Given the description of an element on the screen output the (x, y) to click on. 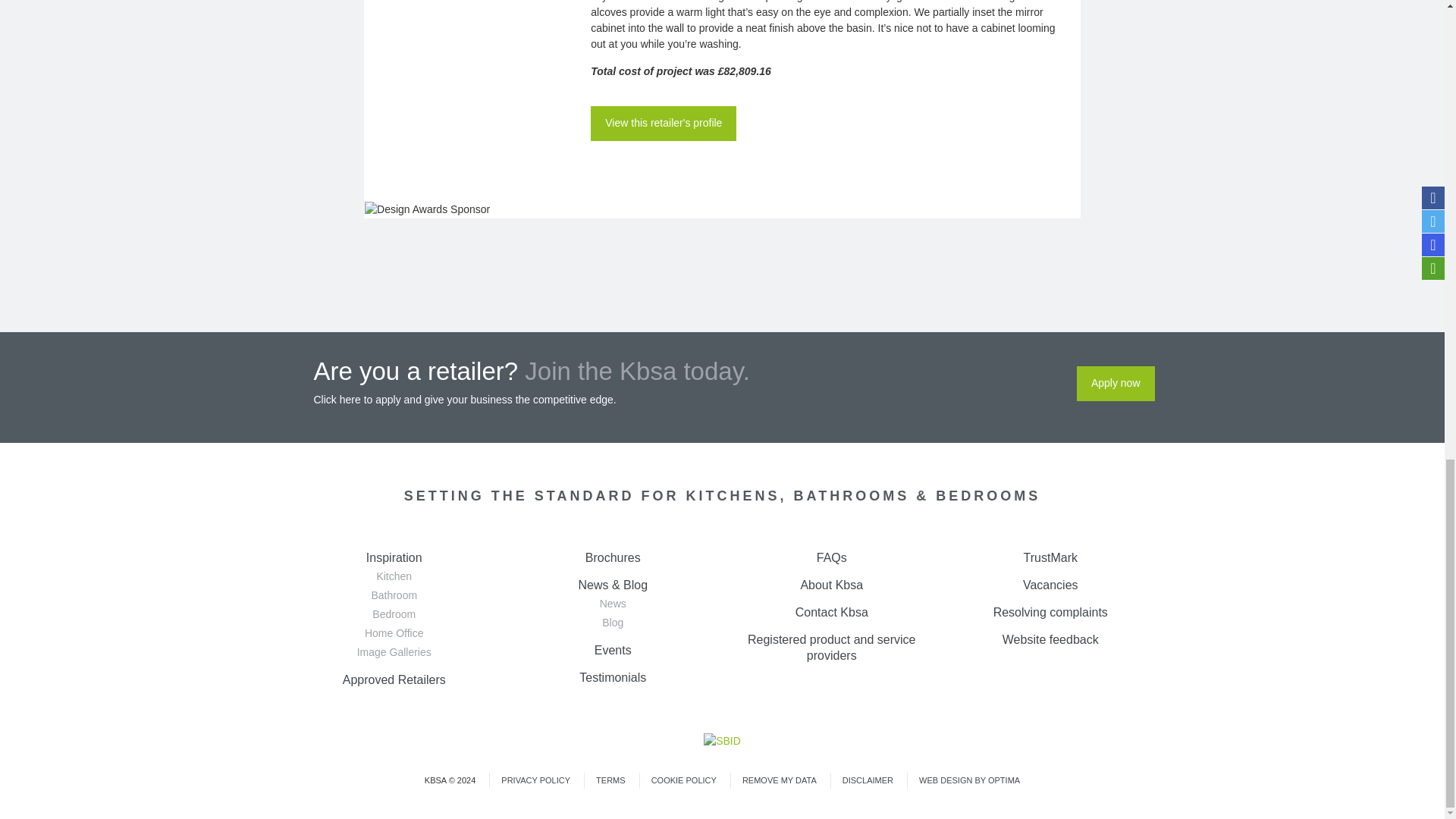
View this retailer's profile (663, 123)
Bedroom (393, 613)
Bathroom (393, 594)
Apply now (1115, 383)
Kitchen (393, 576)
Inspiration (394, 557)
